Given the description of an element on the screen output the (x, y) to click on. 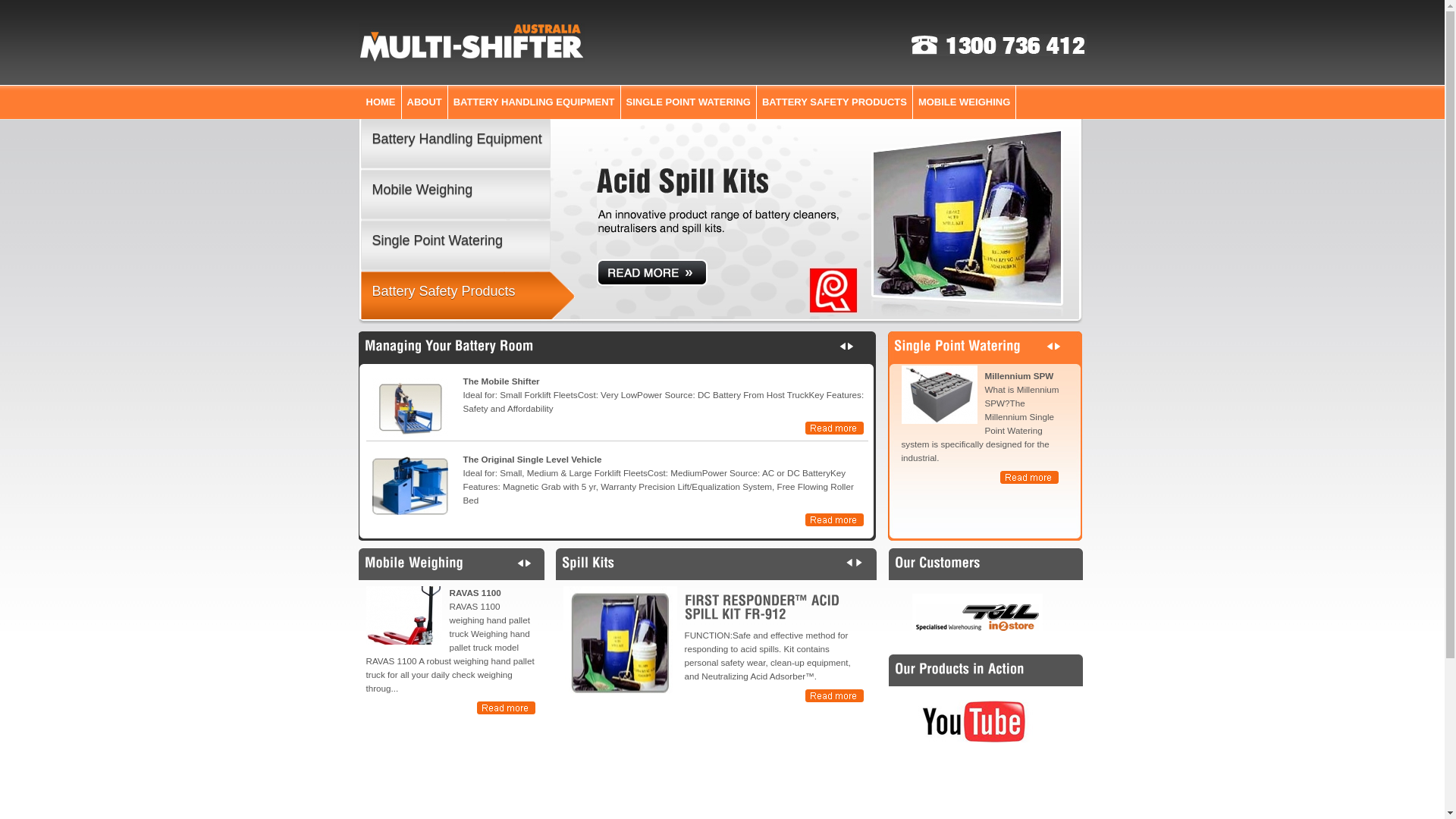
The Original Single Level Vehicle Element type: hover (409, 485)
MULTI-SHIFTER Element type: hover (470, 58)
Next Element type: text (842, 345)
Next Element type: text (519, 562)
RAVAS 1100  Element type: hover (403, 615)
BATTERY SAFETY PRODUCTS Element type: text (834, 101)
The Original Single Level Vehicle Element type: hover (835, 516)
Previous Element type: text (849, 562)
MOBILE WEIGHING Element type: text (964, 101)
The Mobile Shifter Element type: text (617, 381)
Millennium SPW Element type: text (979, 375)
MULTI-SHIFTER Element type: hover (470, 42)
Next Element type: text (1048, 345)
HOME Element type: text (380, 101)
Previous Element type: text (1057, 345)
ABOUT Element type: text (424, 101)
The Mobile Shifter Element type: hover (835, 424)
Previous Element type: text (851, 345)
Millennium SPW Element type: hover (938, 394)
  Element type: text (834, 693)
BATTERY HANDLING EQUIPMENT Element type: text (534, 101)
RAVAS 1100  Element type: hover (506, 705)
Millennium SPW Element type: hover (945, 398)
Millennium SPW Element type: hover (1029, 475)
  Element type: text (1029, 475)
The Original Single Level Vehicle Element type: text (617, 459)
The Original Single Level Vehicle Element type: hover (416, 483)
RAVAS 1100  Element type: hover (410, 619)
Next Element type: text (858, 562)
Previous Element type: text (528, 562)
RAVAS 1100 Element type: text (450, 592)
  Element type: text (835, 516)
SINGLE POINT WATERING Element type: text (688, 101)
The Mobile Shifter Element type: hover (416, 405)
  Element type: text (506, 705)
  Element type: text (835, 424)
The Mobile Shifter Element type: hover (409, 407)
call Element type: hover (998, 45)
Battery Safety Products Element type: hover (837, 217)
